Given the description of an element on the screen output the (x, y) to click on. 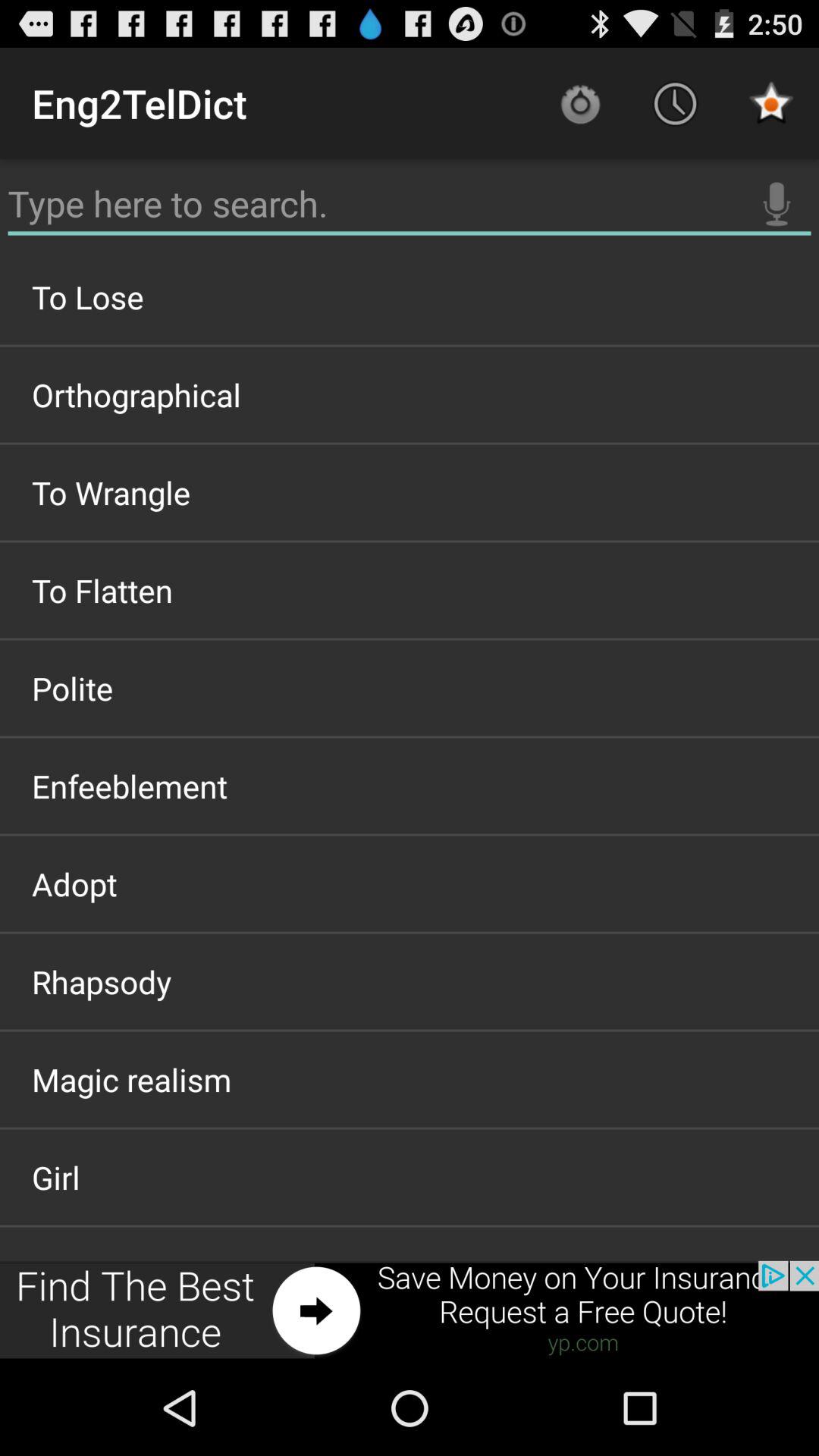
tap rhapsody item (409, 981)
